Given the description of an element on the screen output the (x, y) to click on. 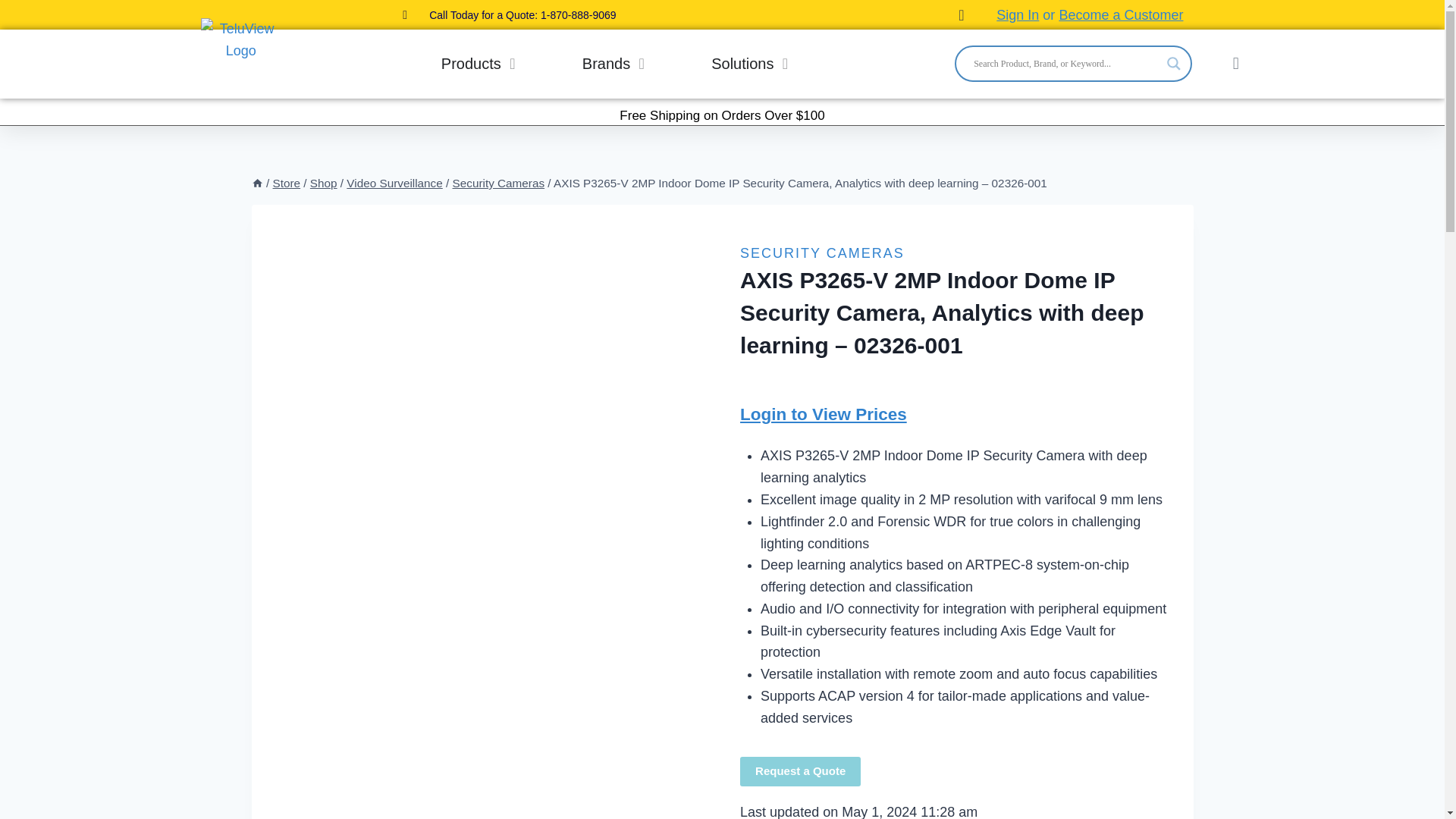
Call Today for a Quote: 1-870-888-9069 (509, 14)
Sign In or (1024, 14)
Home (257, 182)
Become a Customer (1120, 14)
